Given the description of an element on the screen output the (x, y) to click on. 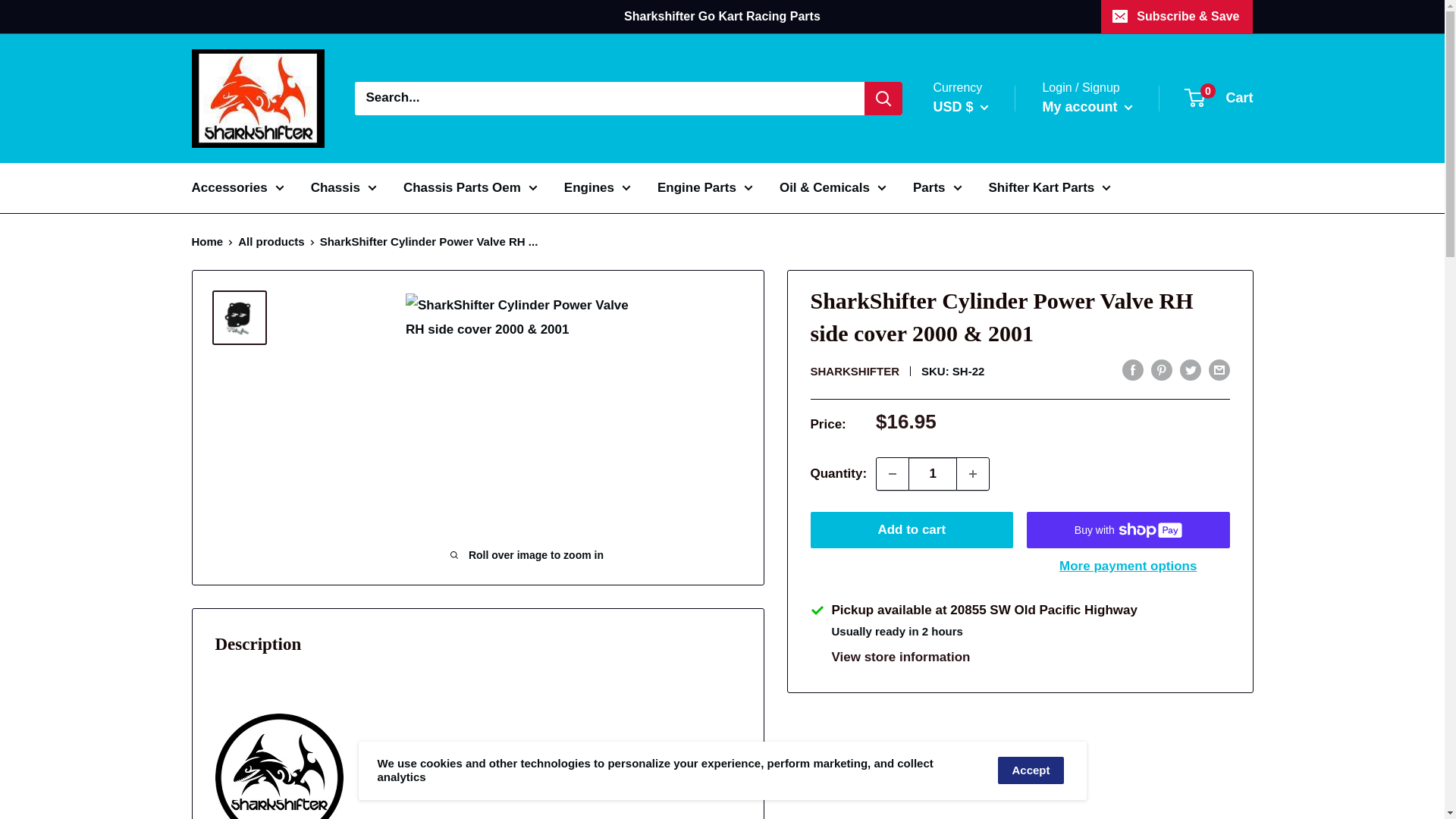
Increase quantity by 1 (972, 473)
1 (932, 473)
Decrease quantity by 1 (892, 473)
